Given the description of an element on the screen output the (x, y) to click on. 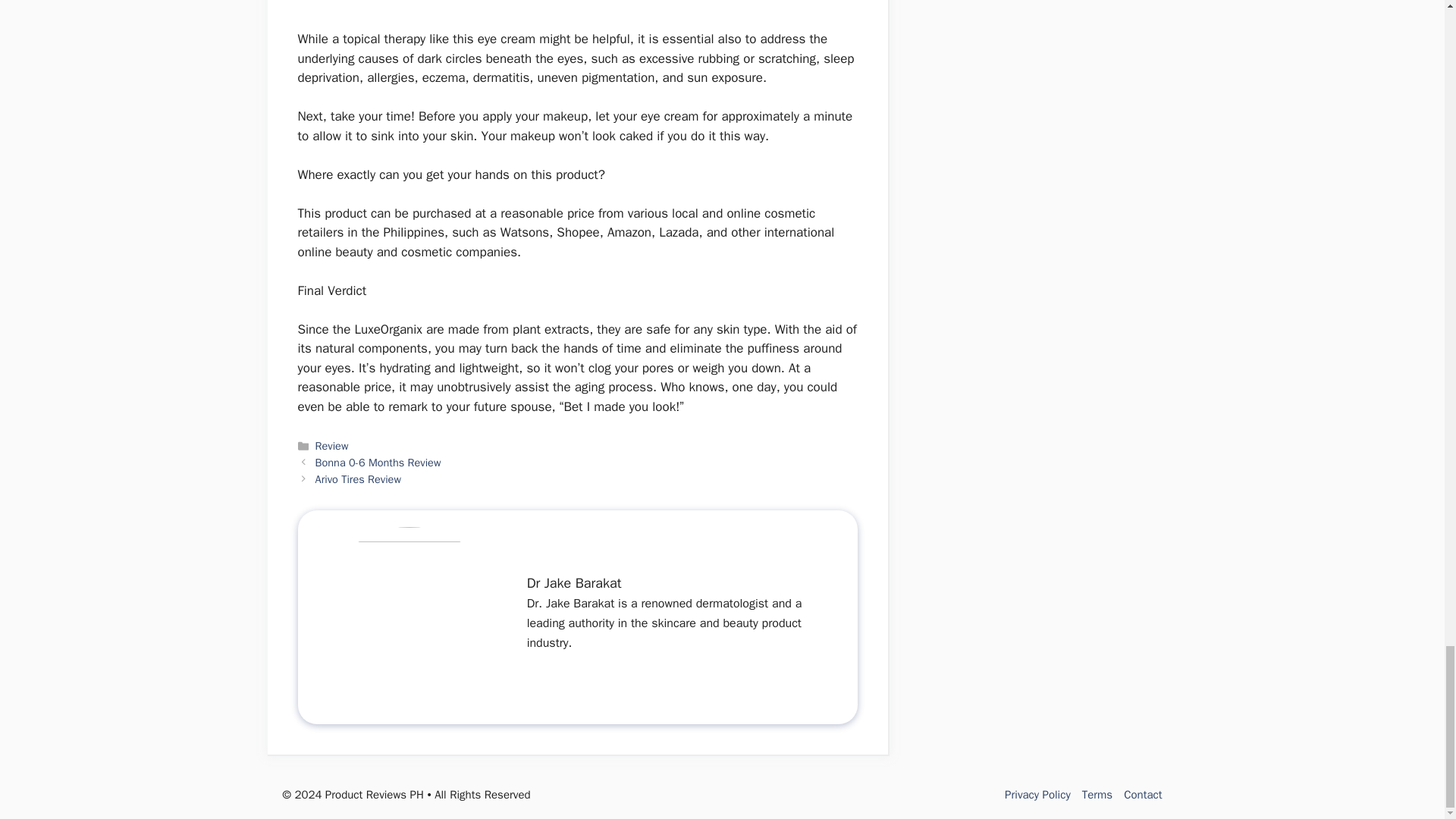
Advertisement (576, 14)
Arivo Tires Review (358, 479)
Bonna 0-6 Months Review (378, 462)
Review (332, 445)
